Given the description of an element on the screen output the (x, y) to click on. 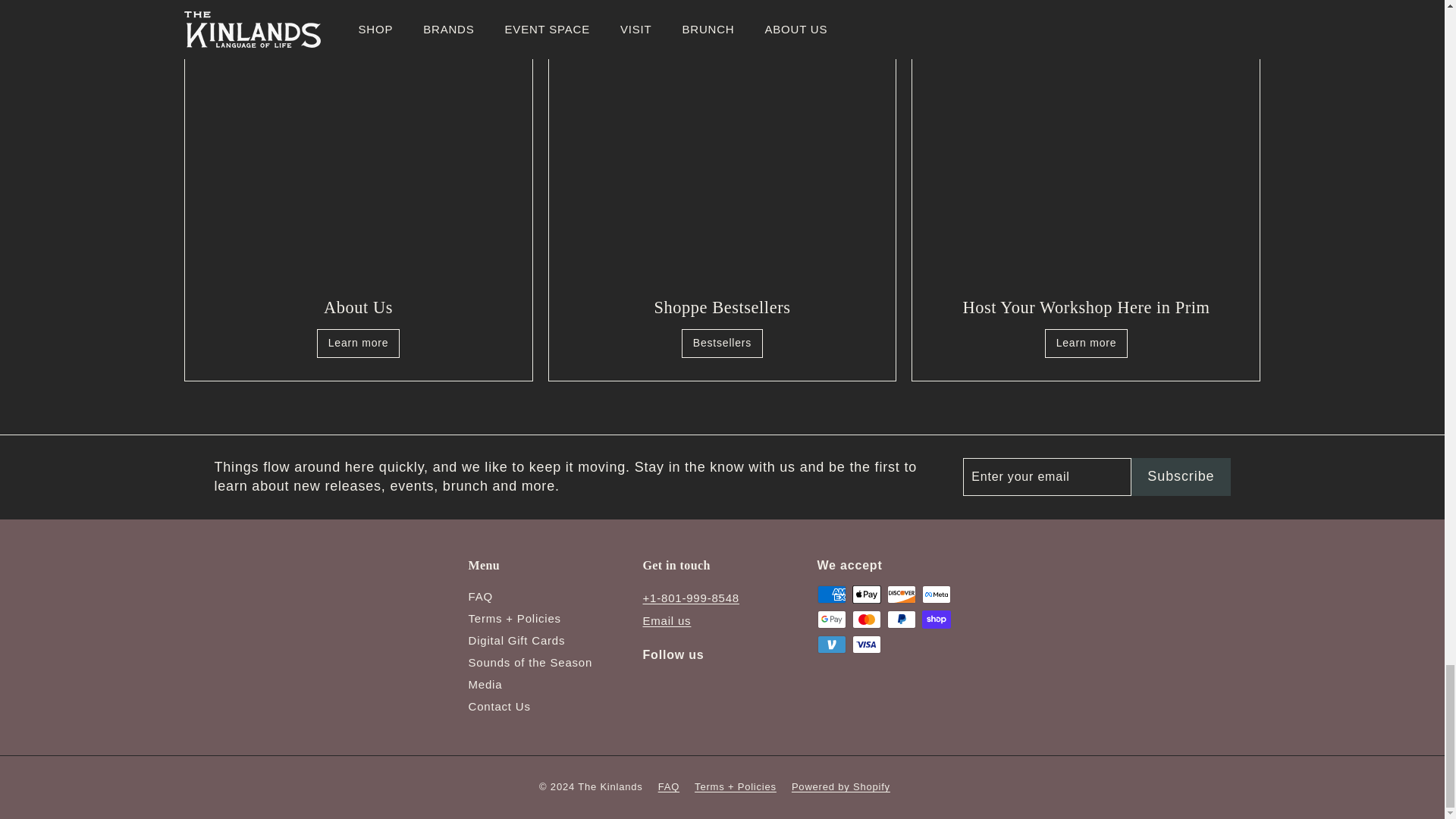
PayPal (900, 619)
Apple Pay (865, 594)
Visa (865, 644)
Google Pay (830, 619)
Mastercard (865, 619)
American Express (830, 594)
Shop Pay (935, 619)
Discover (900, 594)
Venmo (830, 644)
Meta Pay (935, 594)
